Given the description of an element on the screen output the (x, y) to click on. 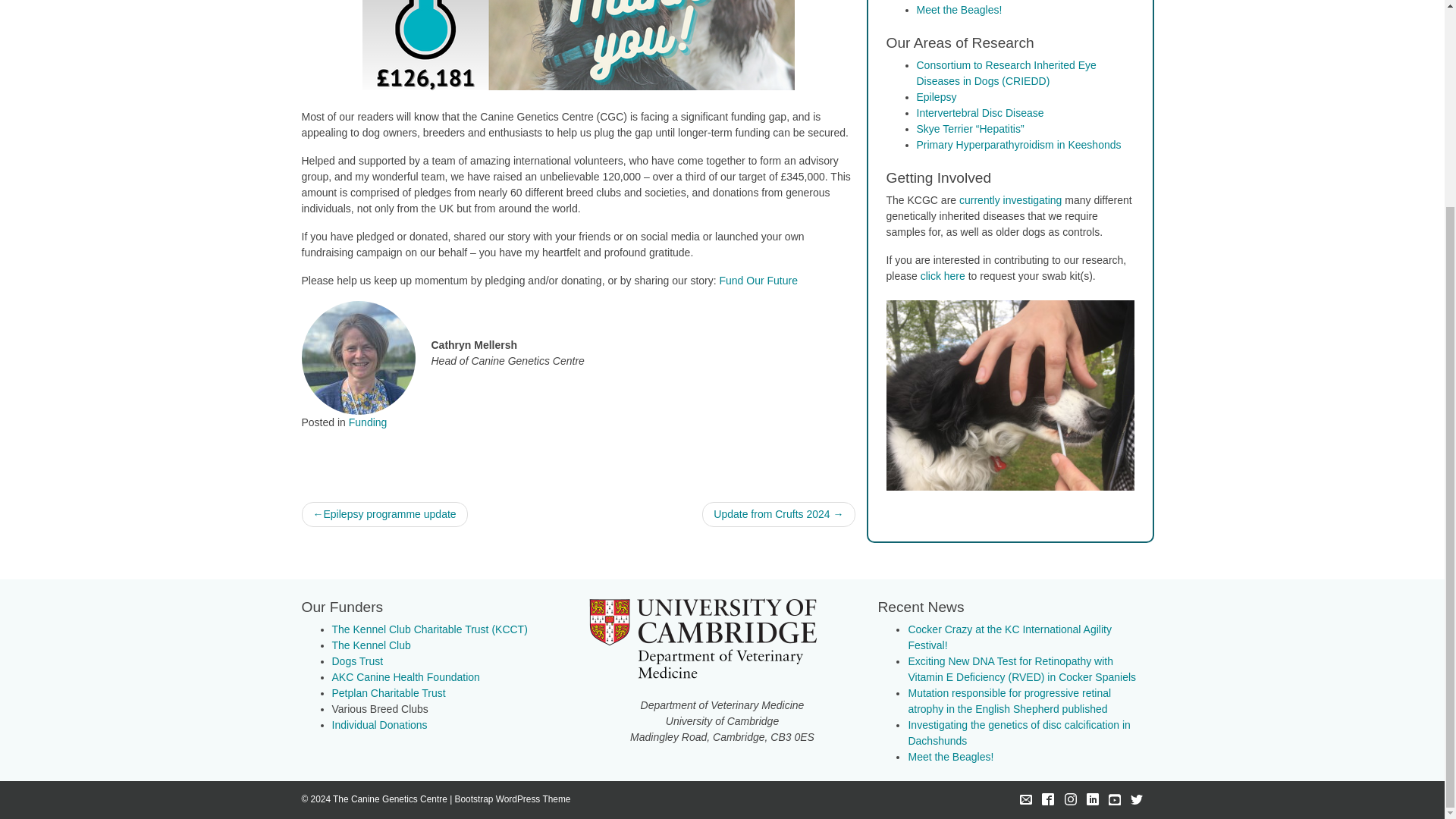
Meet the Beagles! (958, 9)
Epilepsy (935, 96)
Epilepsy programme update (384, 514)
Intervertebral Disc Disease (979, 112)
currently investigating (1010, 200)
Fund Our Future (758, 280)
Update from Crufts 2024 (777, 514)
Primary Hyperparathyroidism in Keeshonds (1018, 144)
Funding (368, 422)
